Given the description of an element on the screen output the (x, y) to click on. 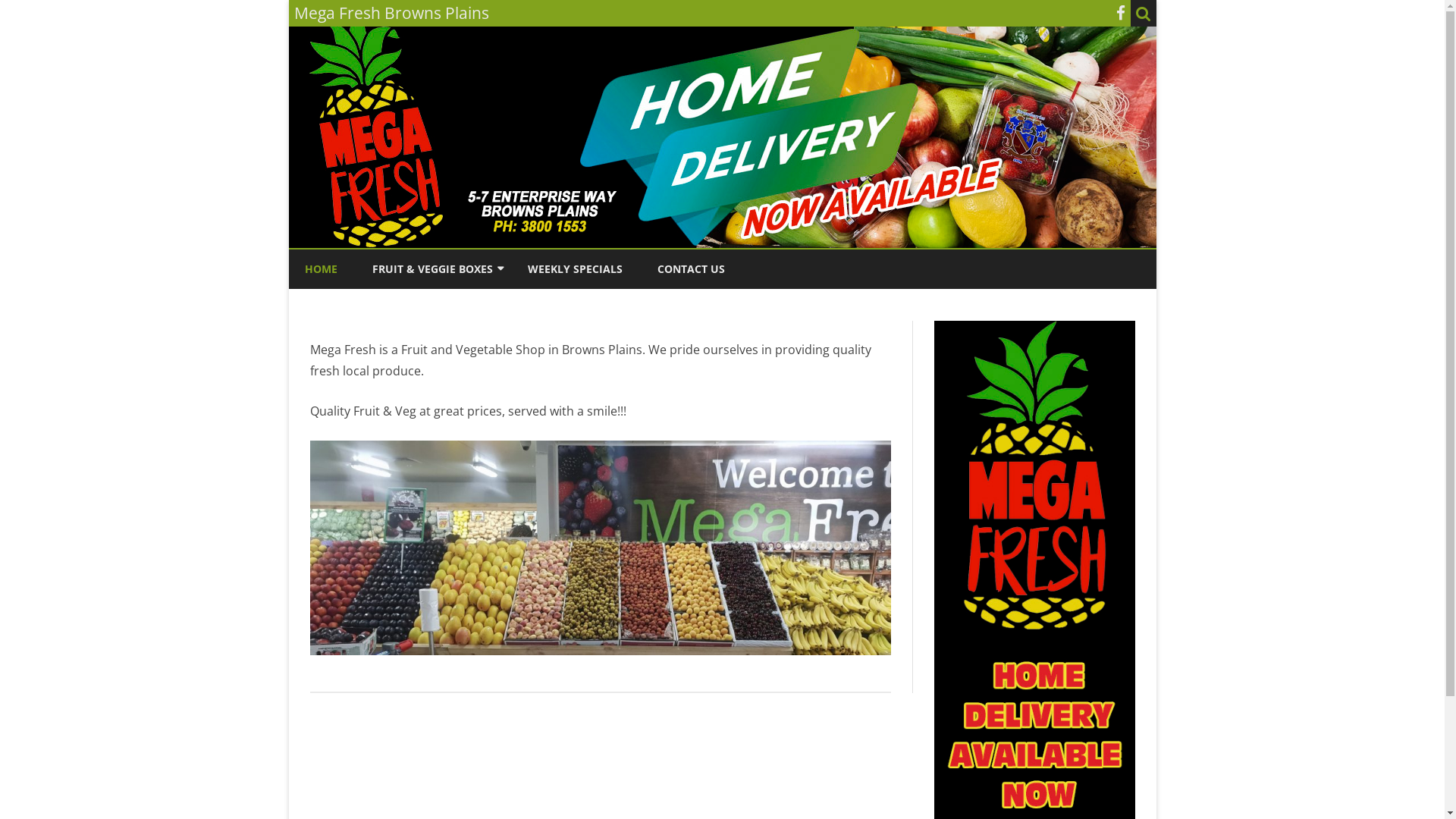
CONTACT US Element type: text (690, 268)
Facebook Element type: hover (1120, 12)
HOME Element type: text (320, 268)
FRUIT & VEGGIE BOXES Element type: text (431, 268)
Skip to content Element type: text (721, 249)
WEEKLY SPECIALS Element type: text (574, 268)
